Given the description of an element on the screen output the (x, y) to click on. 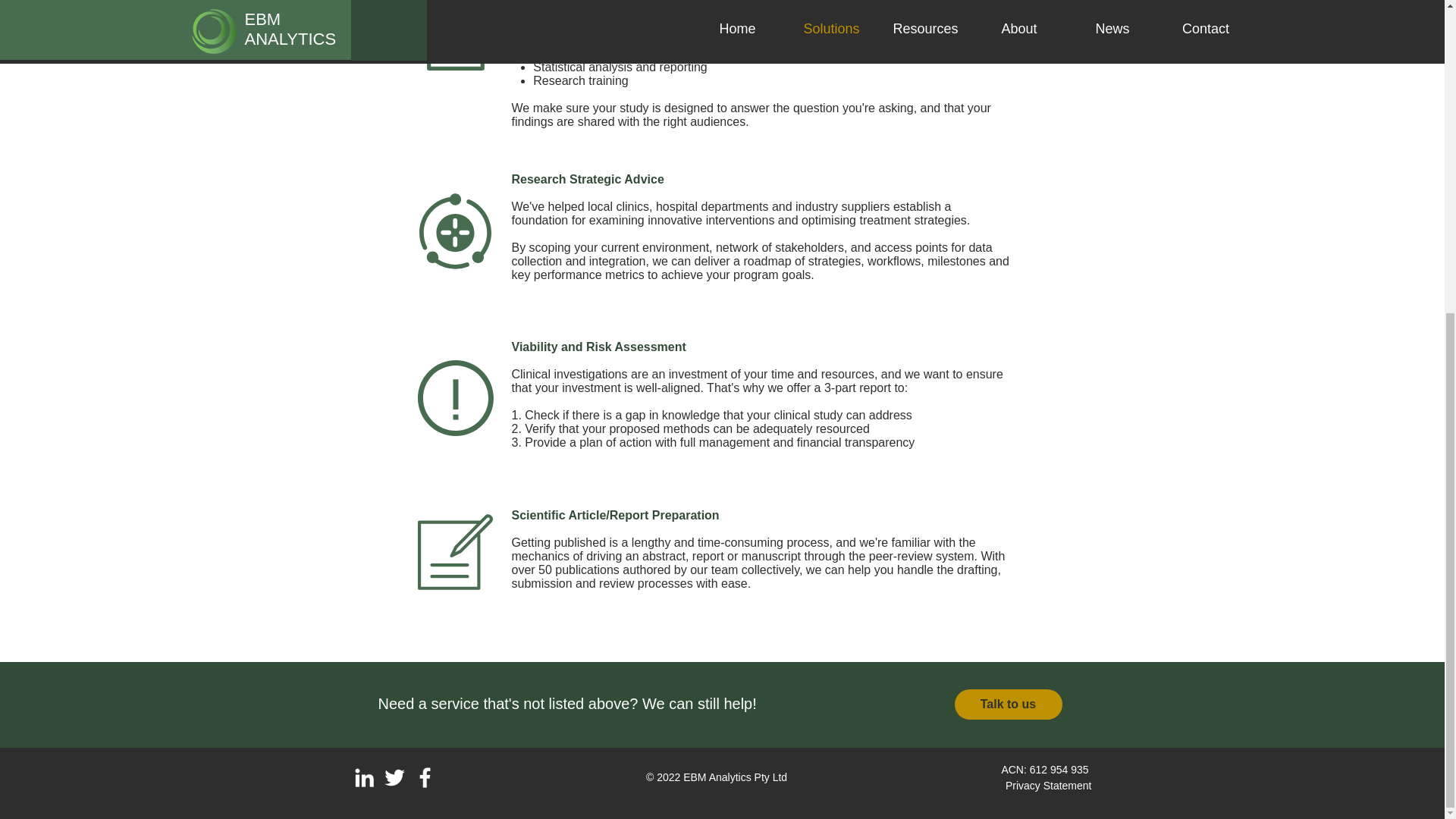
Privacy Statement (1049, 785)
ACN: 612 954 935  (1045, 769)
Talk to us (1007, 704)
